Given the description of an element on the screen output the (x, y) to click on. 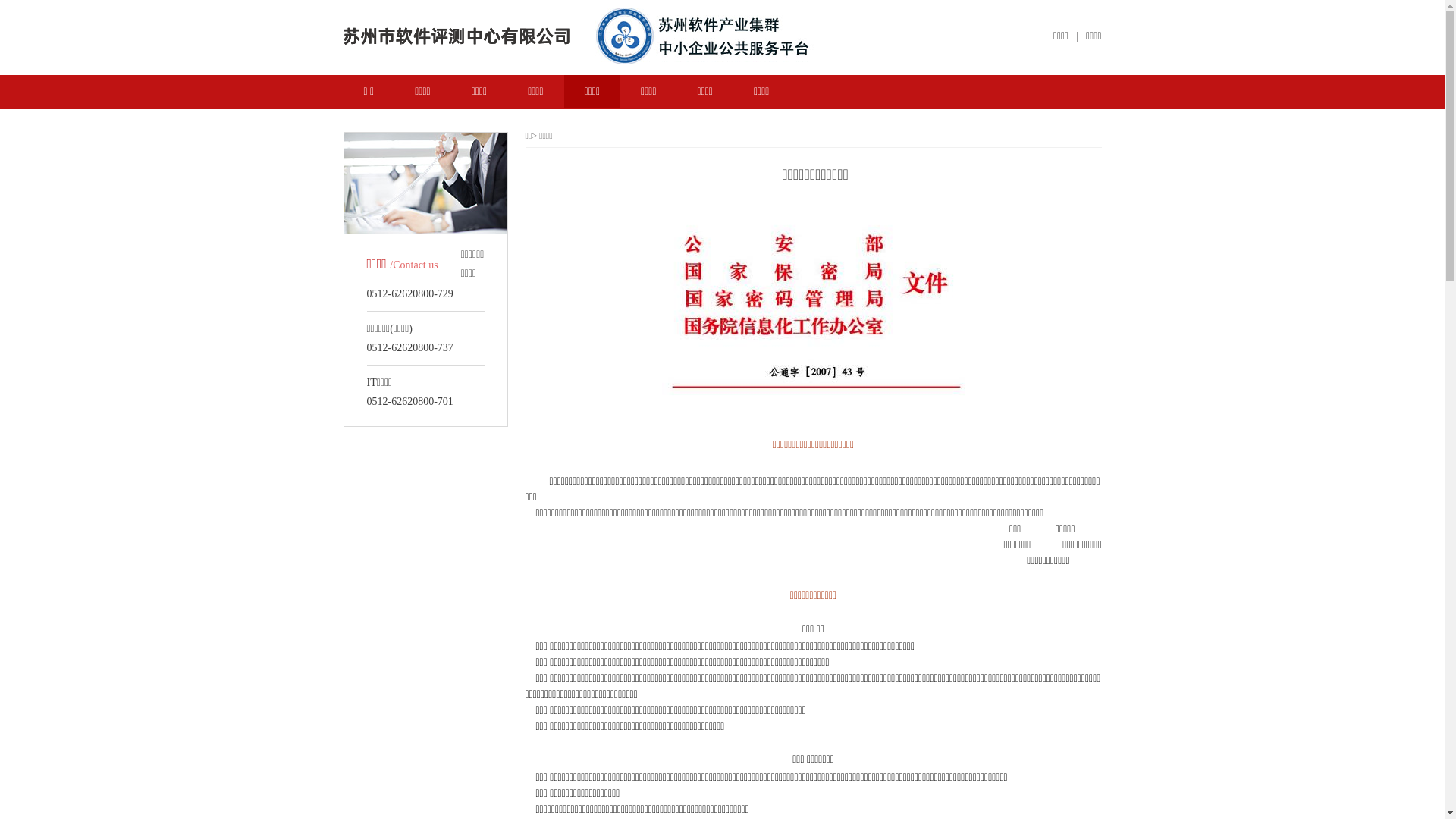
20130319170540152.jpg Element type: hover (812, 313)
